Given the description of an element on the screen output the (x, y) to click on. 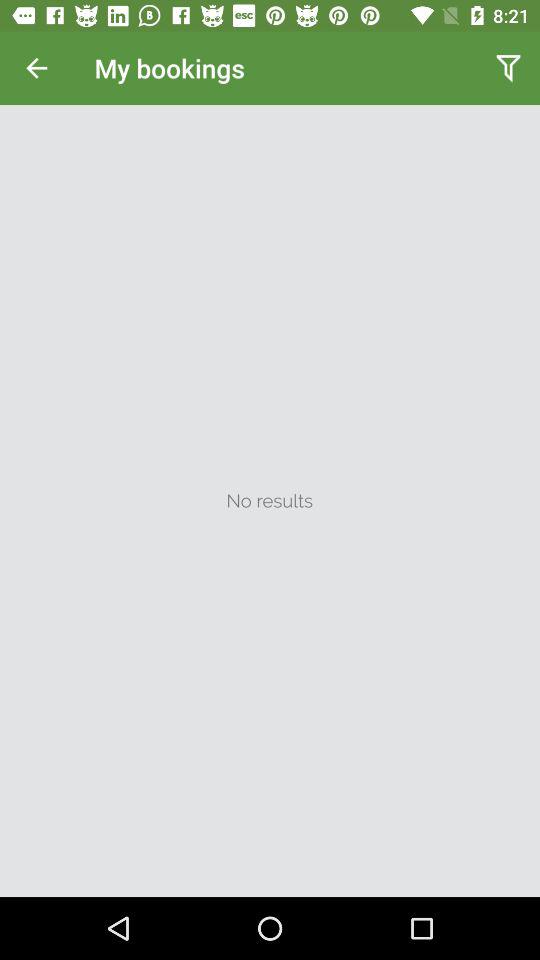
choose icon at the top right corner (508, 67)
